Given the description of an element on the screen output the (x, y) to click on. 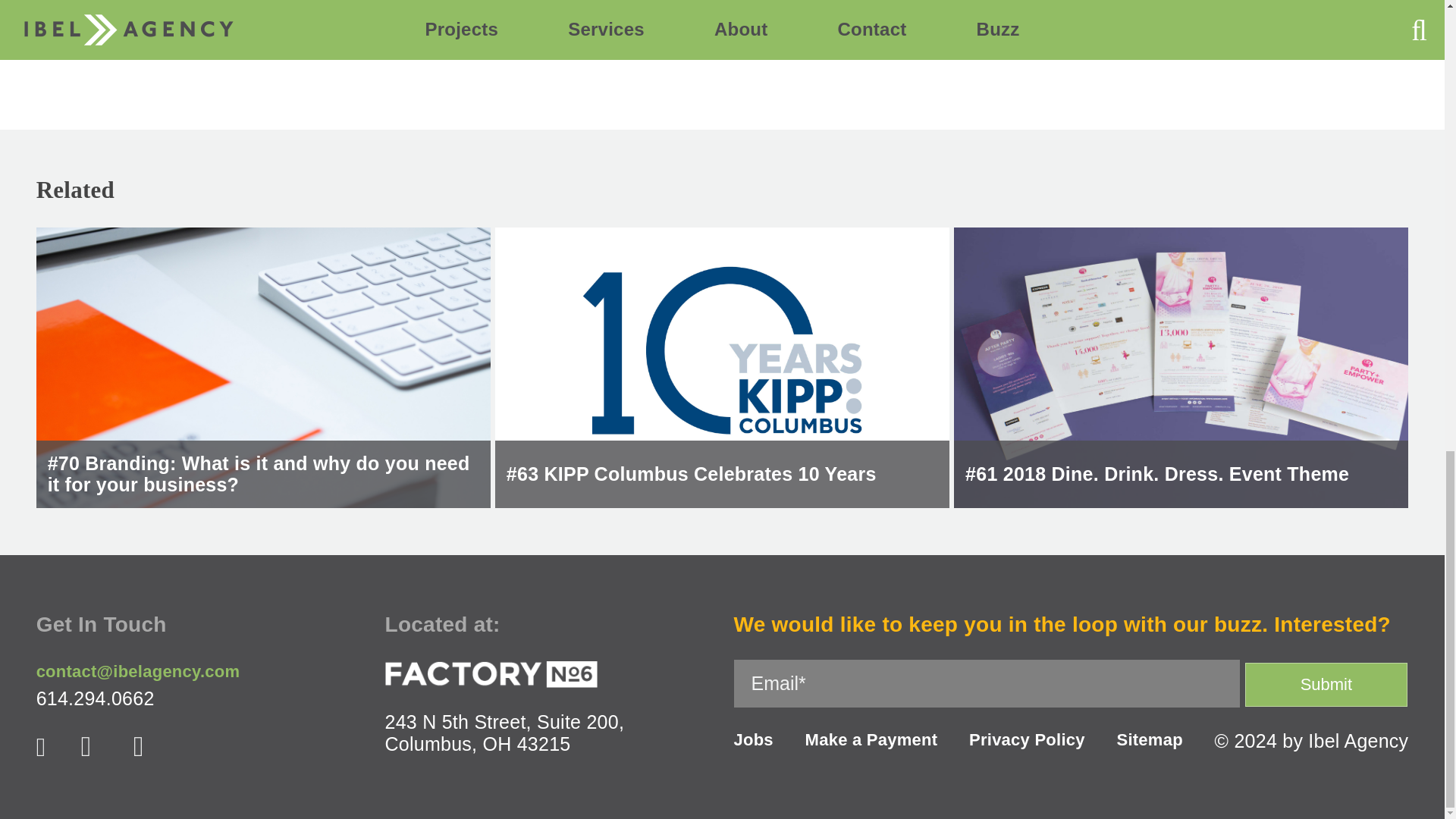
Contact (777, 55)
614.294.0662 (95, 698)
Jobs (753, 741)
Privacy Policy (1026, 741)
View the project (871, 13)
Submit (1325, 684)
Sitemap (1149, 741)
Make a Payment (871, 741)
Submit (1325, 684)
